Given the description of an element on the screen output the (x, y) to click on. 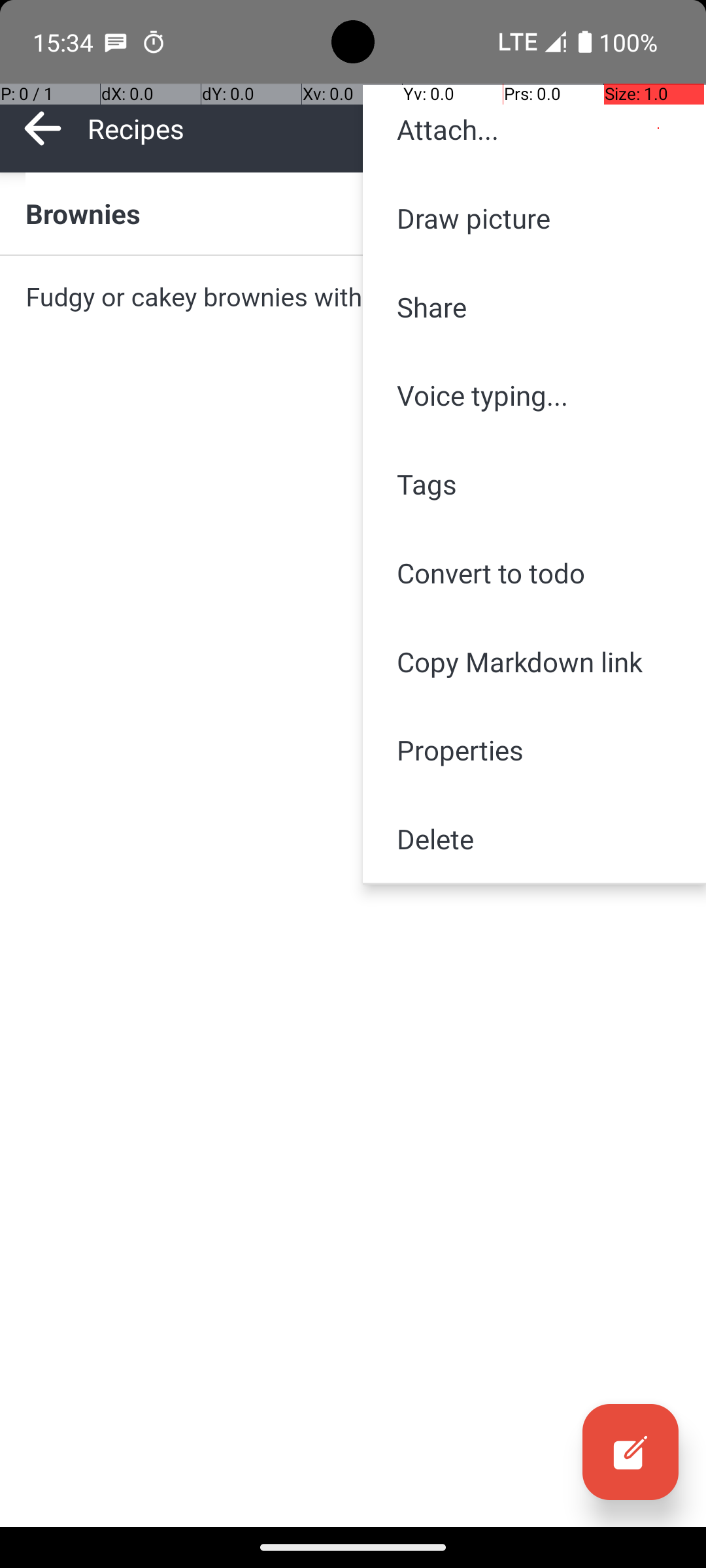
Brownies Element type: android.widget.EditText (352, 213)
Attach... Element type: android.widget.TextView (534, 129)
Draw picture Element type: android.widget.TextView (534, 217)
Voice typing... Element type: android.widget.TextView (534, 395)
Convert to todo Element type: android.widget.TextView (534, 572)
Copy Markdown link Element type: android.widget.TextView (534, 661)
Fudgy or cakey brownies with chocolate chips or nuts. Element type: android.widget.TextView (352, 296)
